Given the description of an element on the screen output the (x, y) to click on. 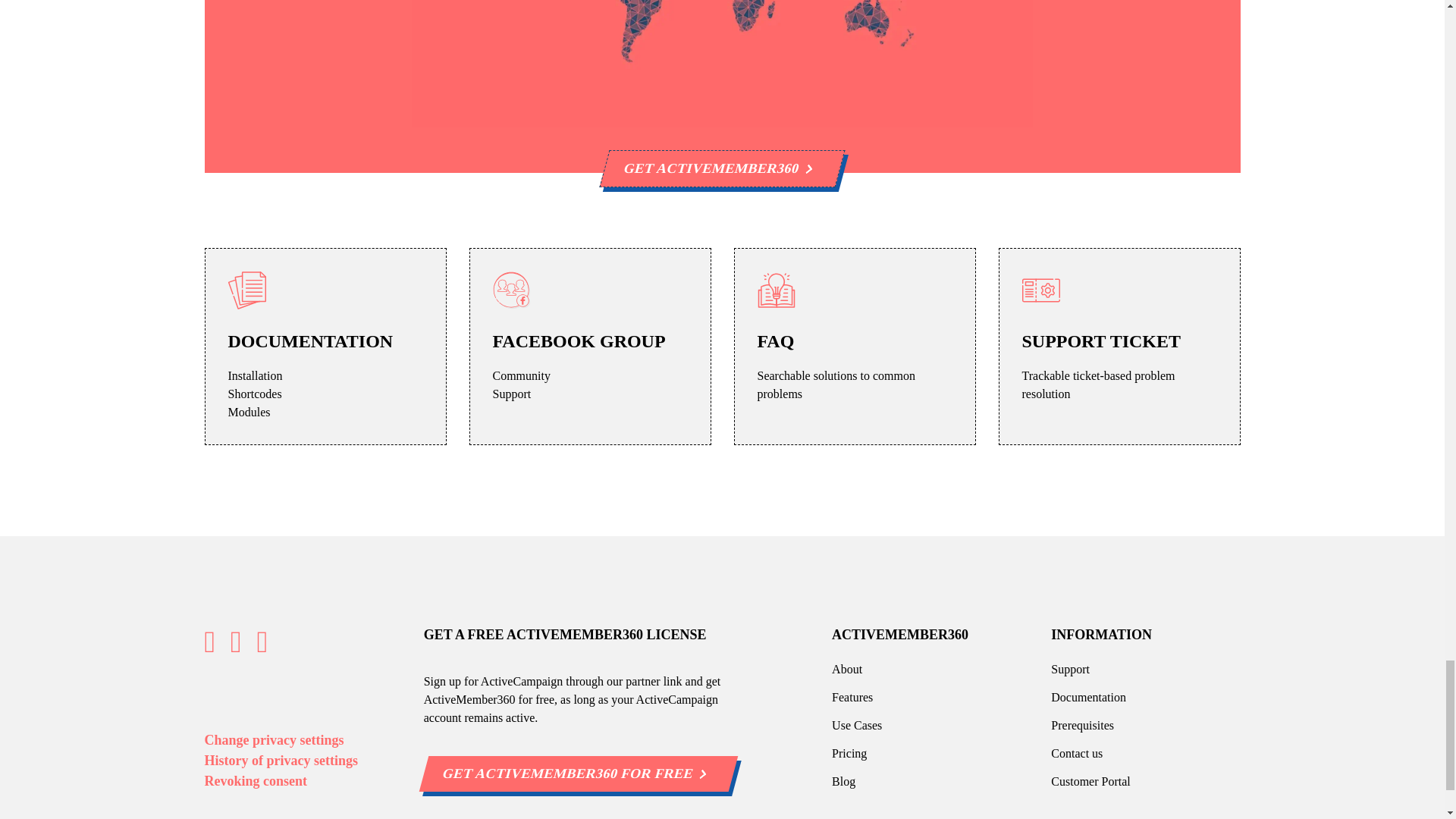
Link to Support Page (1070, 668)
Link in new Tab to Active Campaign (573, 773)
